Given the description of an element on the screen output the (x, y) to click on. 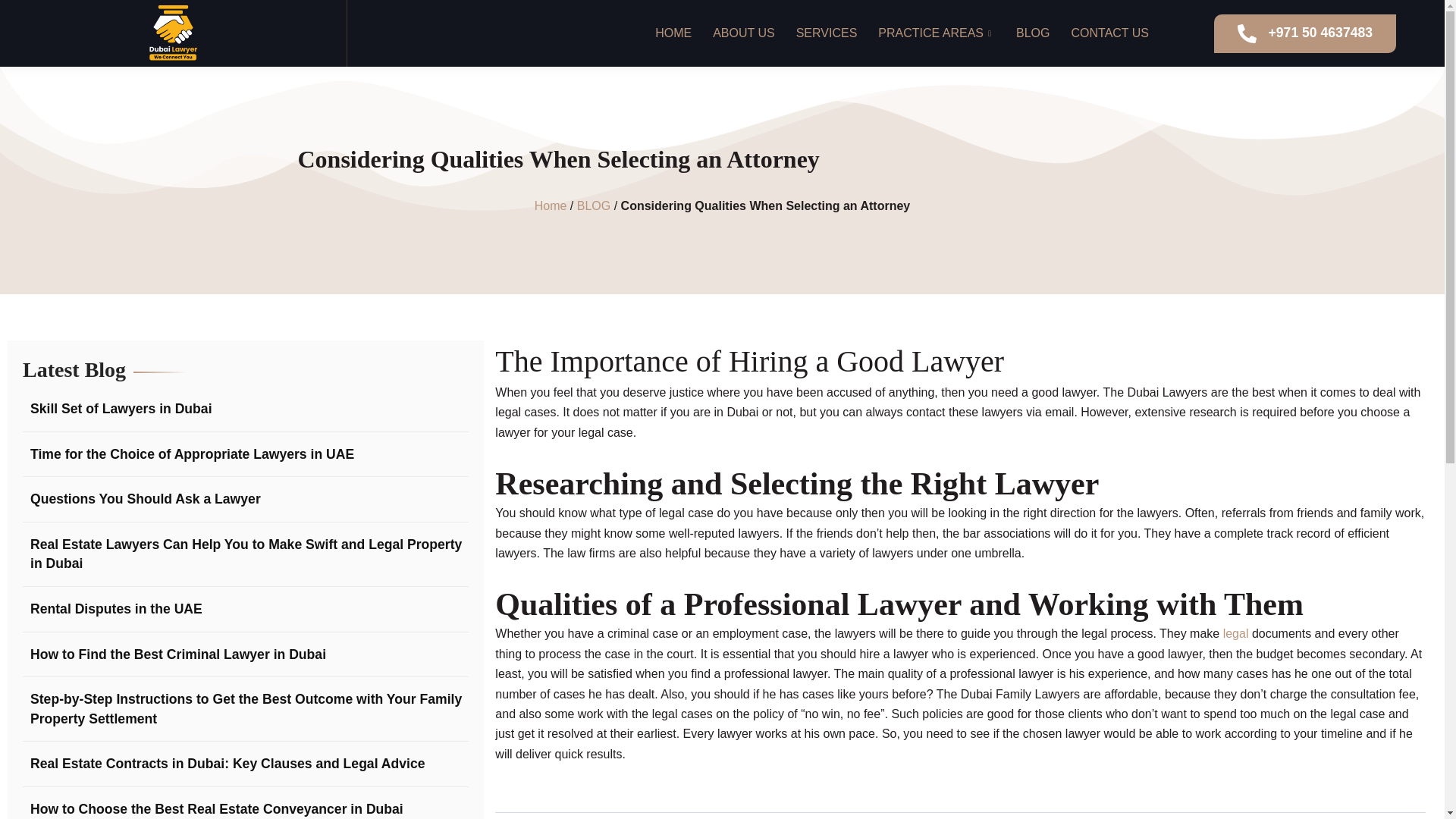
Home (550, 205)
Questions You Should Ask a Lawyer (141, 499)
Time for the Choice of Appropriate Lawyers in UAE (188, 455)
SERVICES (825, 33)
CONTACT US (1108, 33)
Real Estate Contracts in Dubai: Key Clauses and Legal Advice (224, 763)
How to Choose the Best Real Estate Conveyancer in Dubai (213, 809)
How to Find the Best Criminal Lawyer in Dubai (174, 655)
ABOUT US (742, 33)
Rental Disputes in the UAE (112, 609)
BLOG (593, 205)
PRACTICE AREAS (935, 33)
legal (1236, 633)
